Given the description of an element on the screen output the (x, y) to click on. 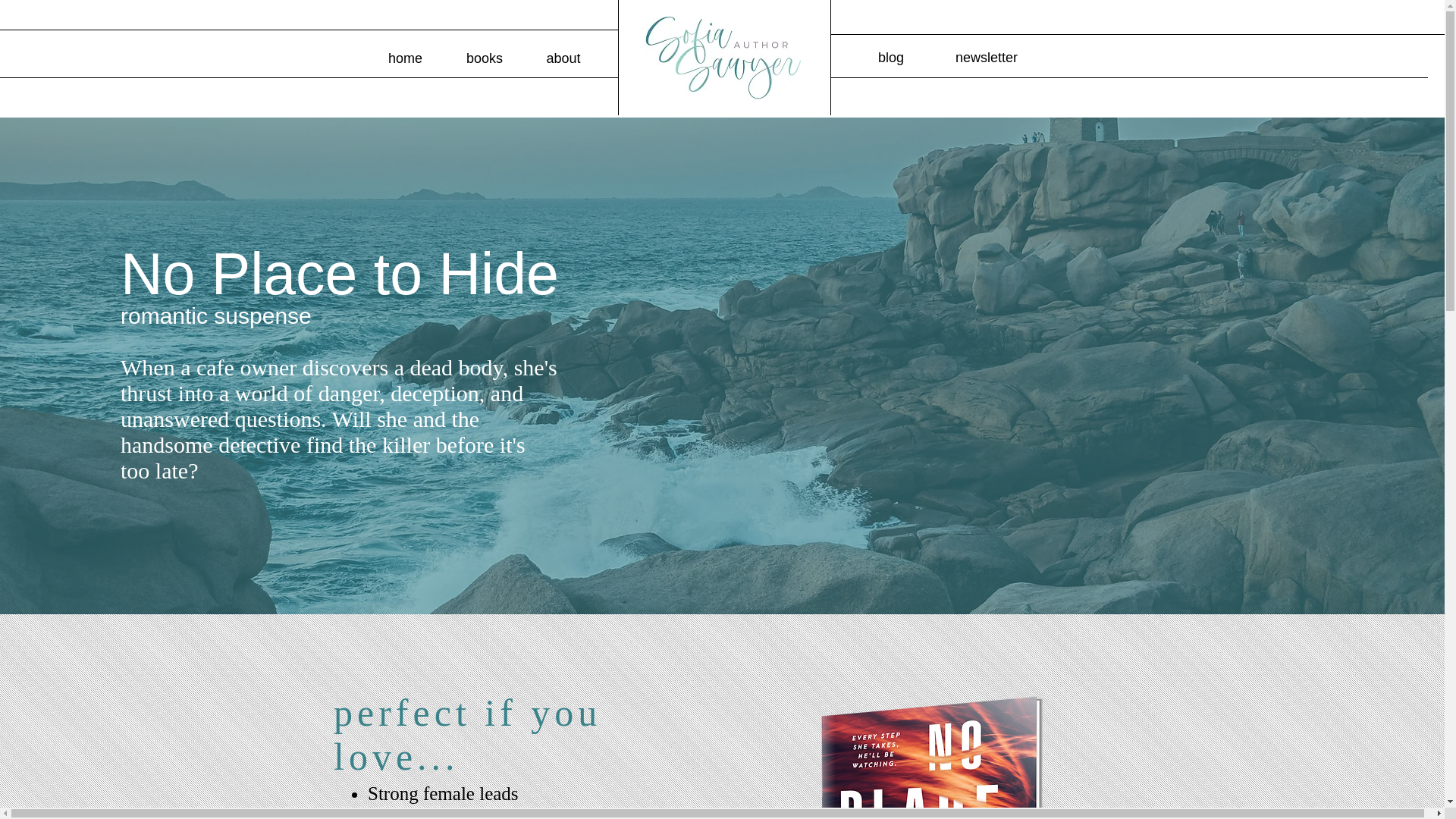
blog (891, 57)
about (563, 58)
books (484, 58)
home (404, 58)
newsletter (986, 57)
